Given the description of an element on the screen output the (x, y) to click on. 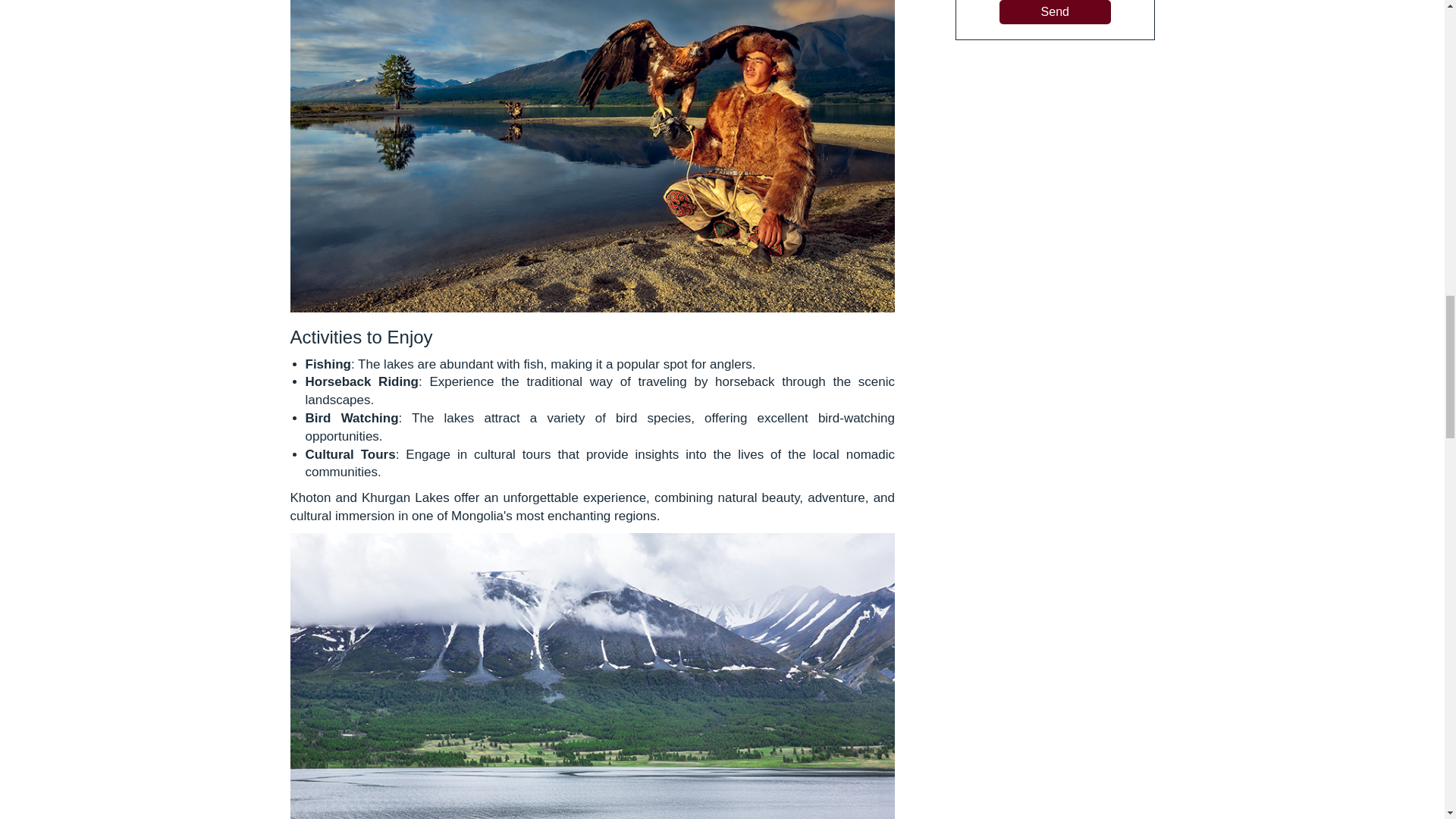
Send (1054, 12)
